Given the description of an element on the screen output the (x, y) to click on. 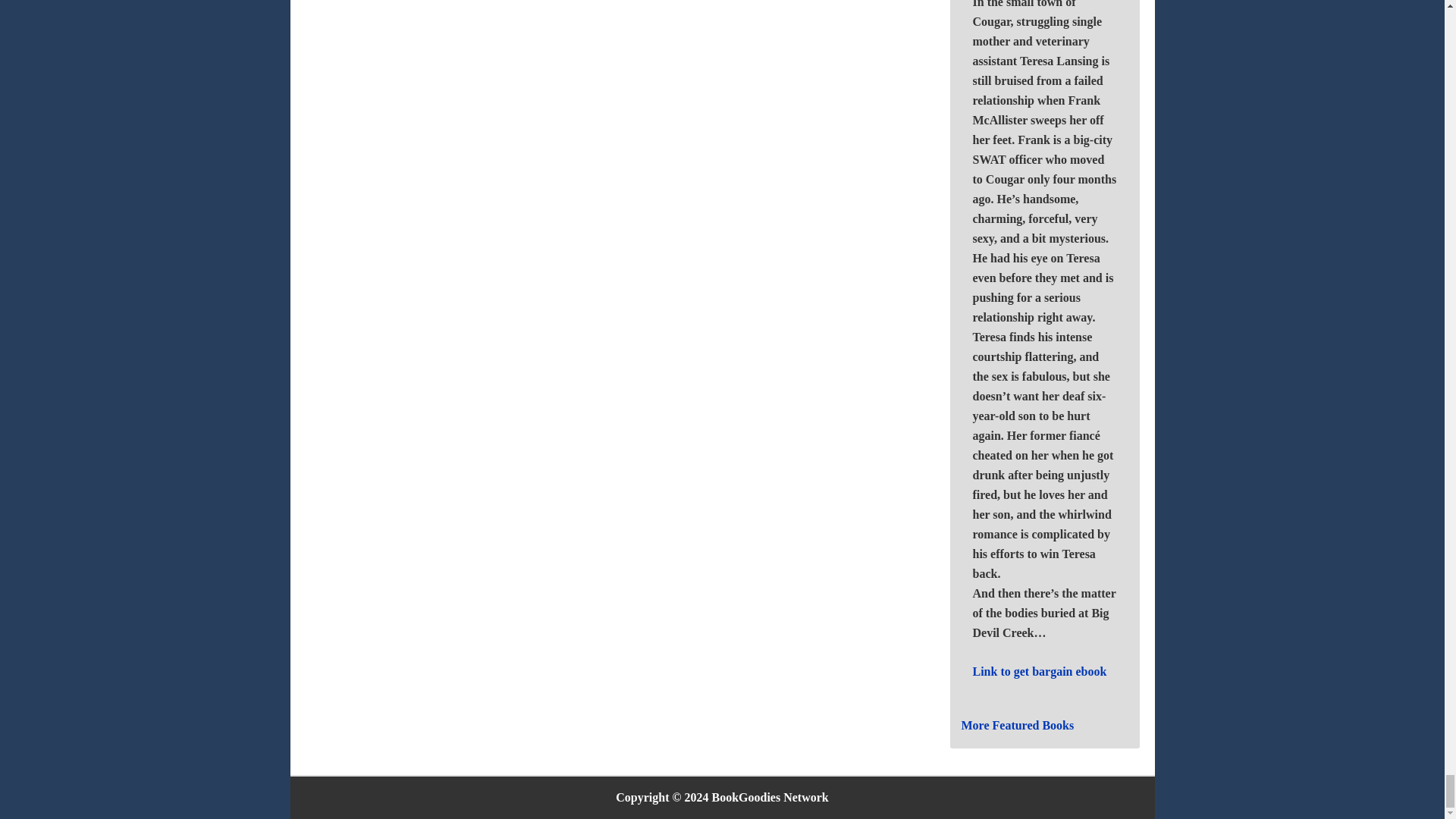
Features (1017, 725)
